Given the description of an element on the screen output the (x, y) to click on. 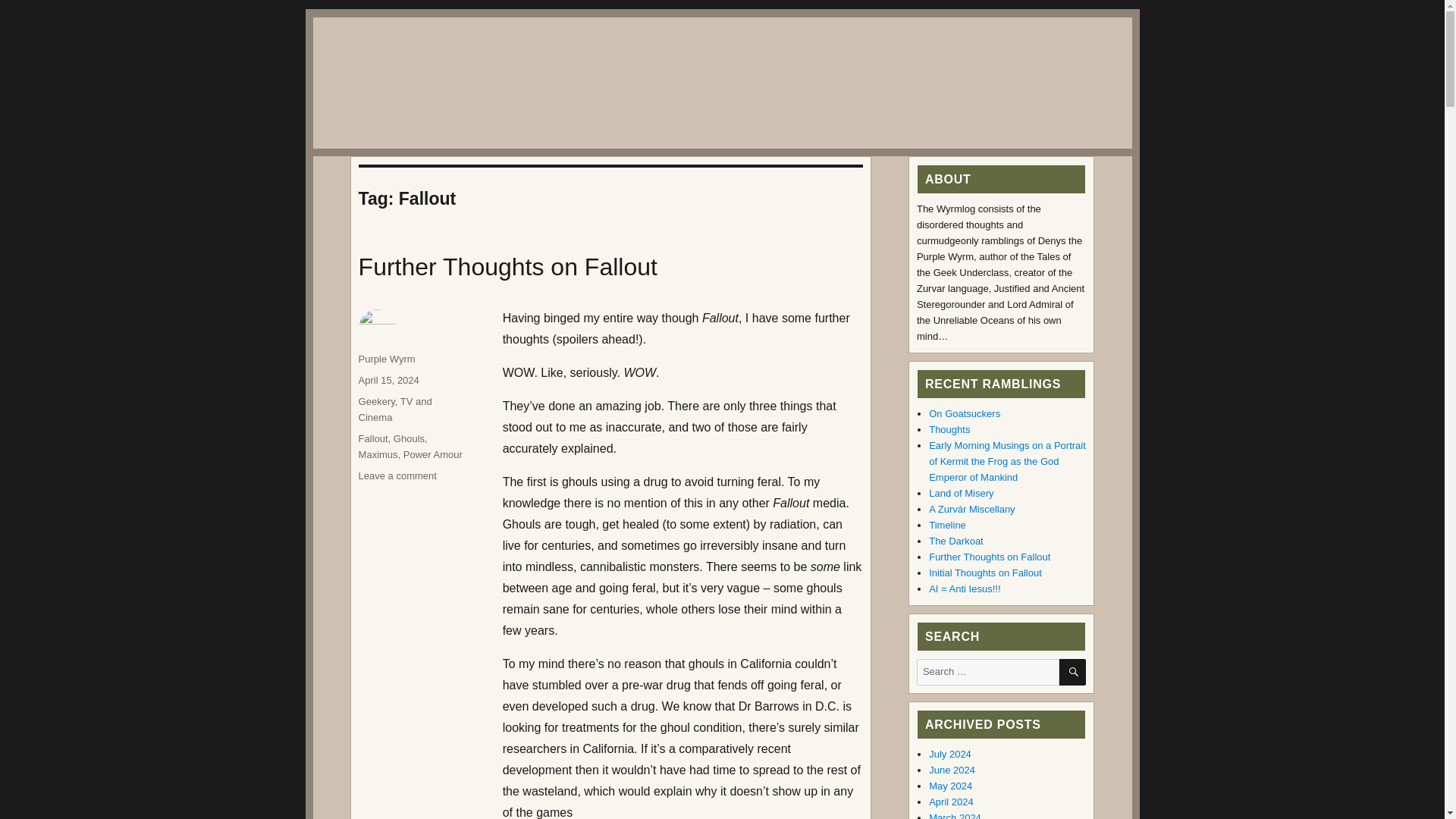
Power Amour (433, 454)
Purple Wyrm (386, 358)
April 15, 2024 (388, 379)
Further Thoughts on Fallout (508, 266)
Fallout (397, 475)
TV and Cinema (373, 438)
Geekery (395, 409)
Ghouls (376, 401)
Maximus (409, 438)
